Given the description of an element on the screen output the (x, y) to click on. 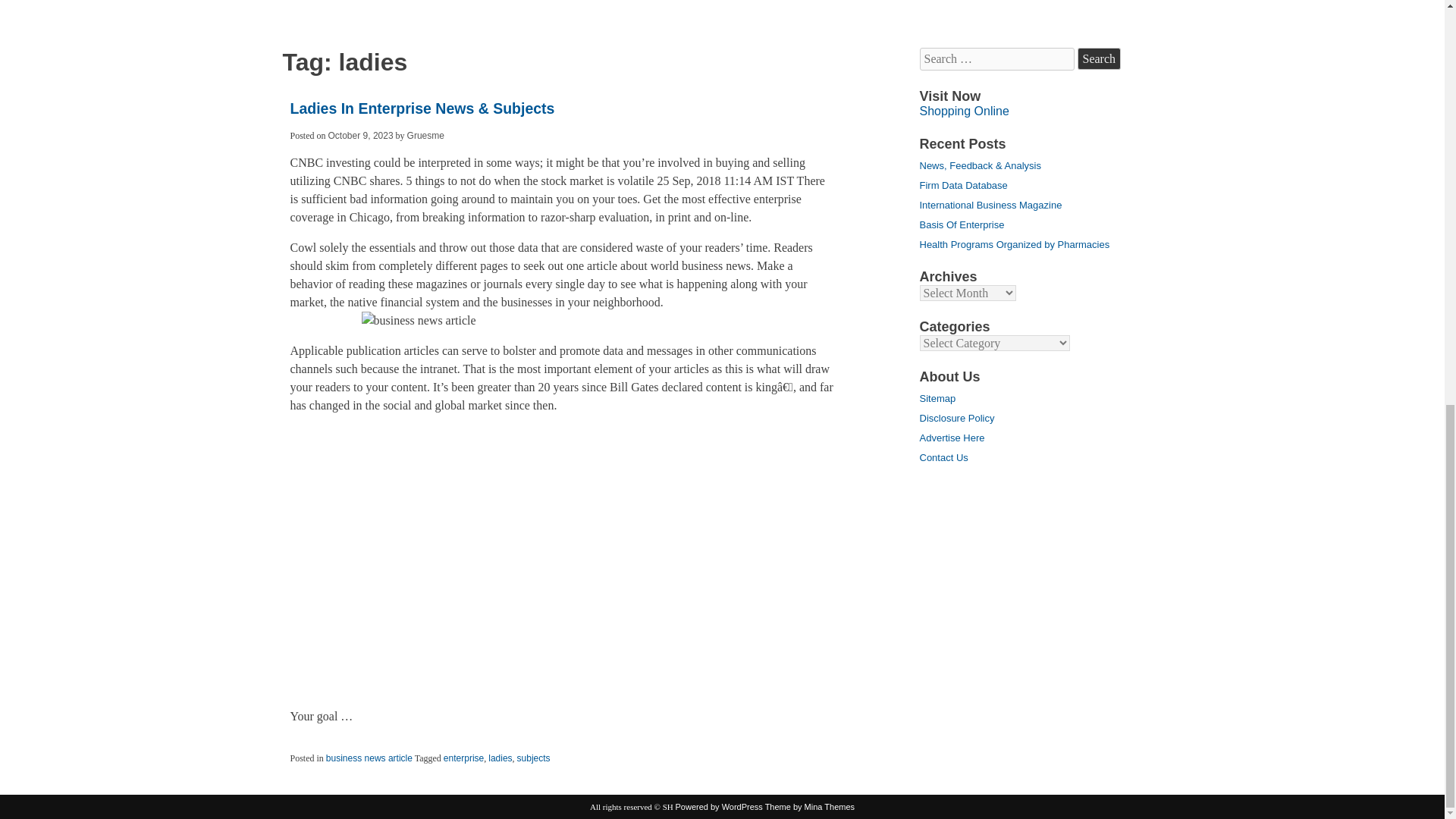
enterprise (463, 757)
Search (1099, 58)
WordPress (718, 806)
business news article (369, 757)
Wordpress theme (809, 806)
Gruesme (425, 135)
Search (1099, 58)
October 9, 2023 (361, 135)
